Given the description of an element on the screen output the (x, y) to click on. 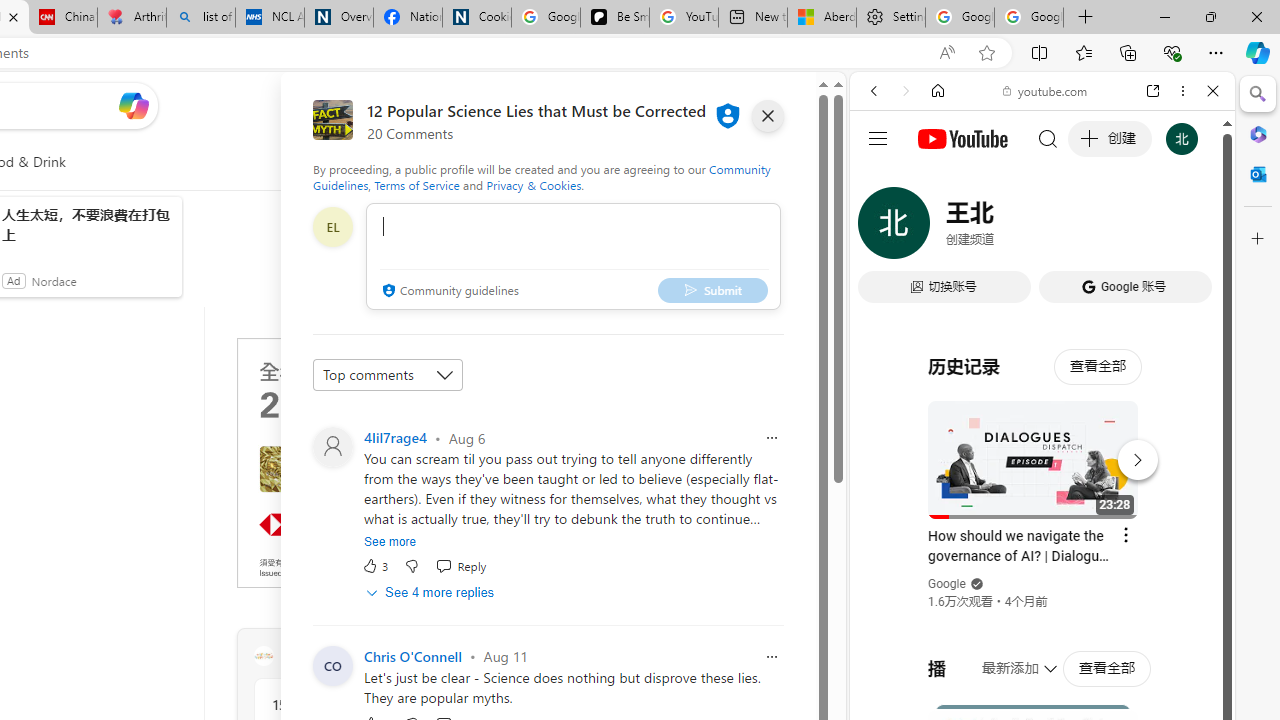
Craft Your Happy Place (263, 655)
Trailer #2 [HD] (1042, 592)
Class: qc-adchoices-icon (527, 345)
See 4 more replies (431, 592)
AutomationID: canvas (386, 462)
